Given the description of an element on the screen output the (x, y) to click on. 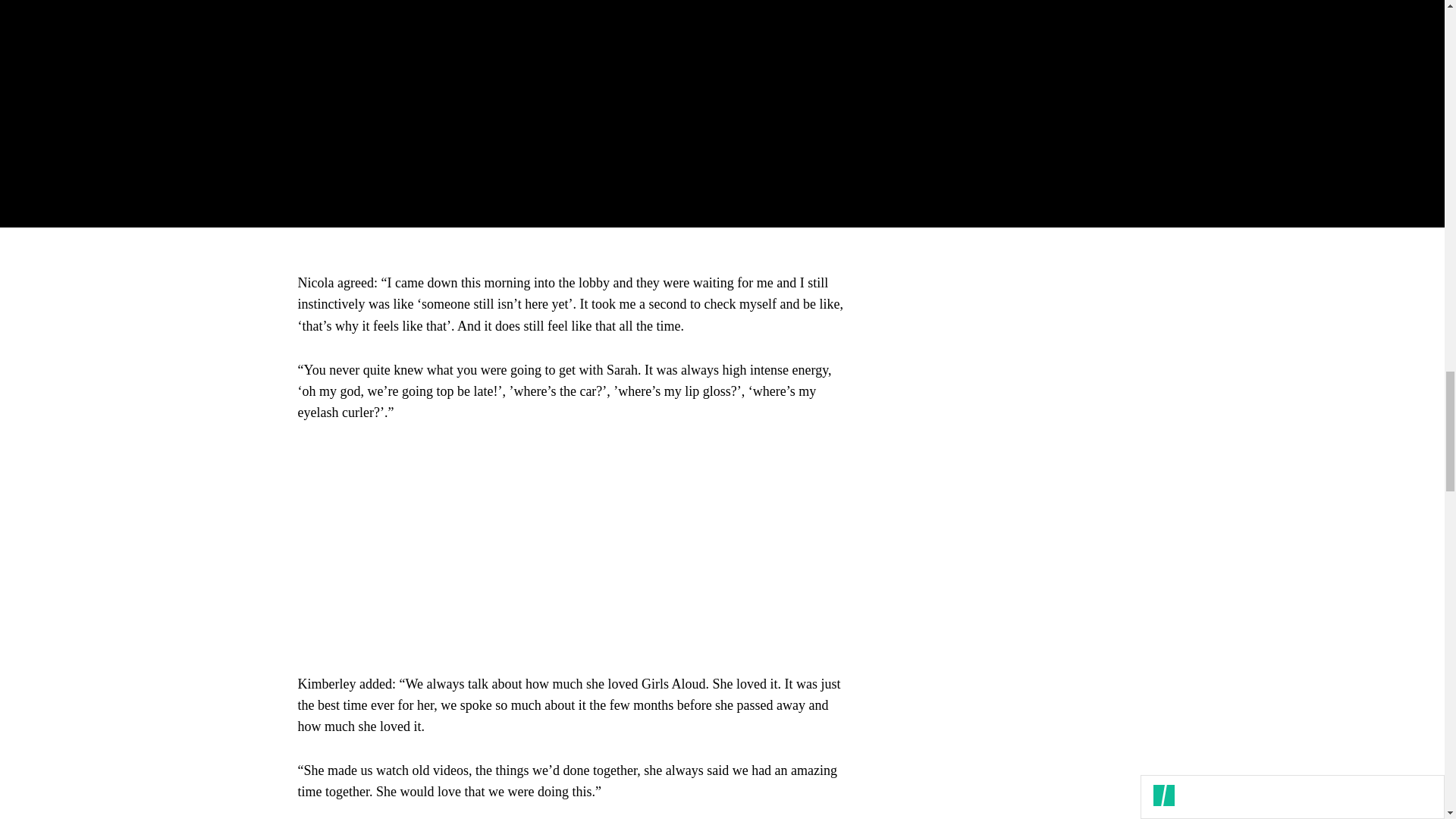
SIGN UP (1098, 97)
